Given the description of an element on the screen output the (x, y) to click on. 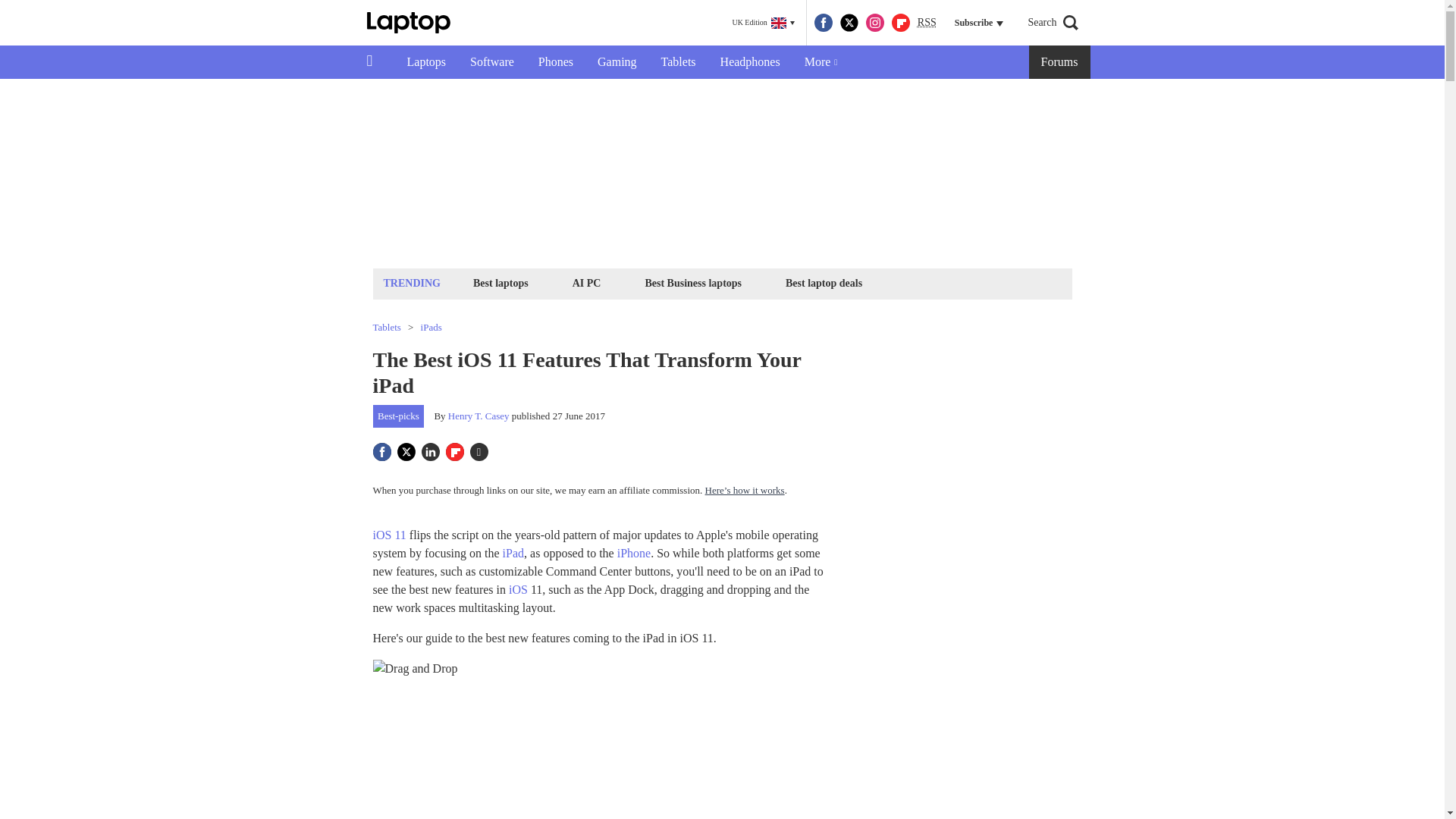
Software (491, 61)
UK Edition (762, 22)
AI PC (587, 282)
Best Business laptops (692, 282)
Best laptop deals (823, 282)
Gaming (617, 61)
Laptops (426, 61)
Phones (555, 61)
Tablets (678, 61)
Forums (1059, 61)
Best laptops (500, 282)
Really Simple Syndication (926, 21)
RSS (926, 22)
Headphones (749, 61)
